Given the description of an element on the screen output the (x, y) to click on. 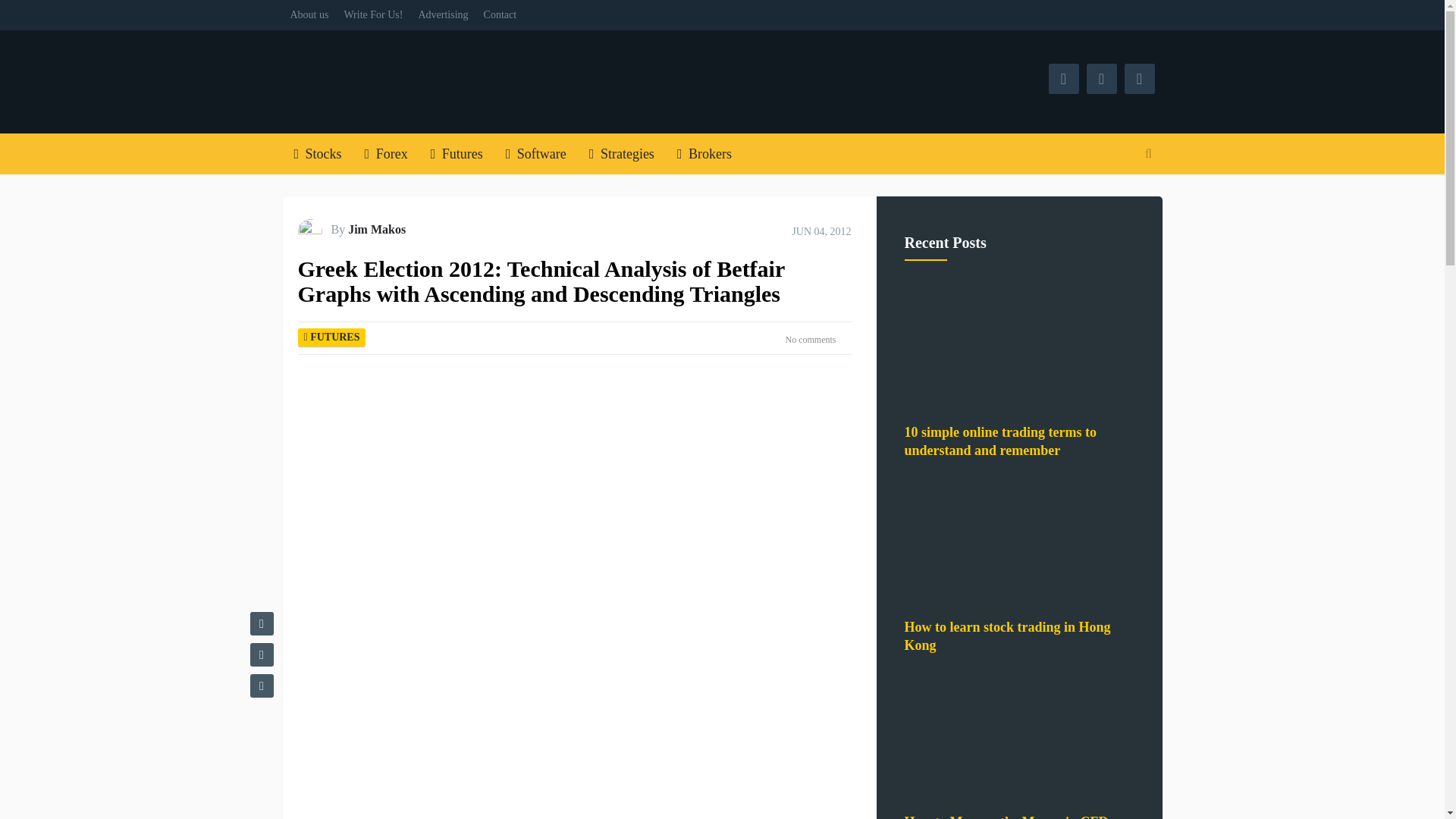
Software (536, 153)
Stocks (317, 153)
Contact (500, 15)
View all posts in Futures (334, 337)
No comments (810, 337)
Brokers (703, 153)
Strategies (621, 153)
Jim Makos (376, 228)
Forex (386, 153)
Posts by Jim Makos (376, 228)
Futures (457, 153)
FUTURES (334, 337)
Trading Software (536, 153)
Write For Us! (373, 15)
Advertising (443, 15)
